Given the description of an element on the screen output the (x, y) to click on. 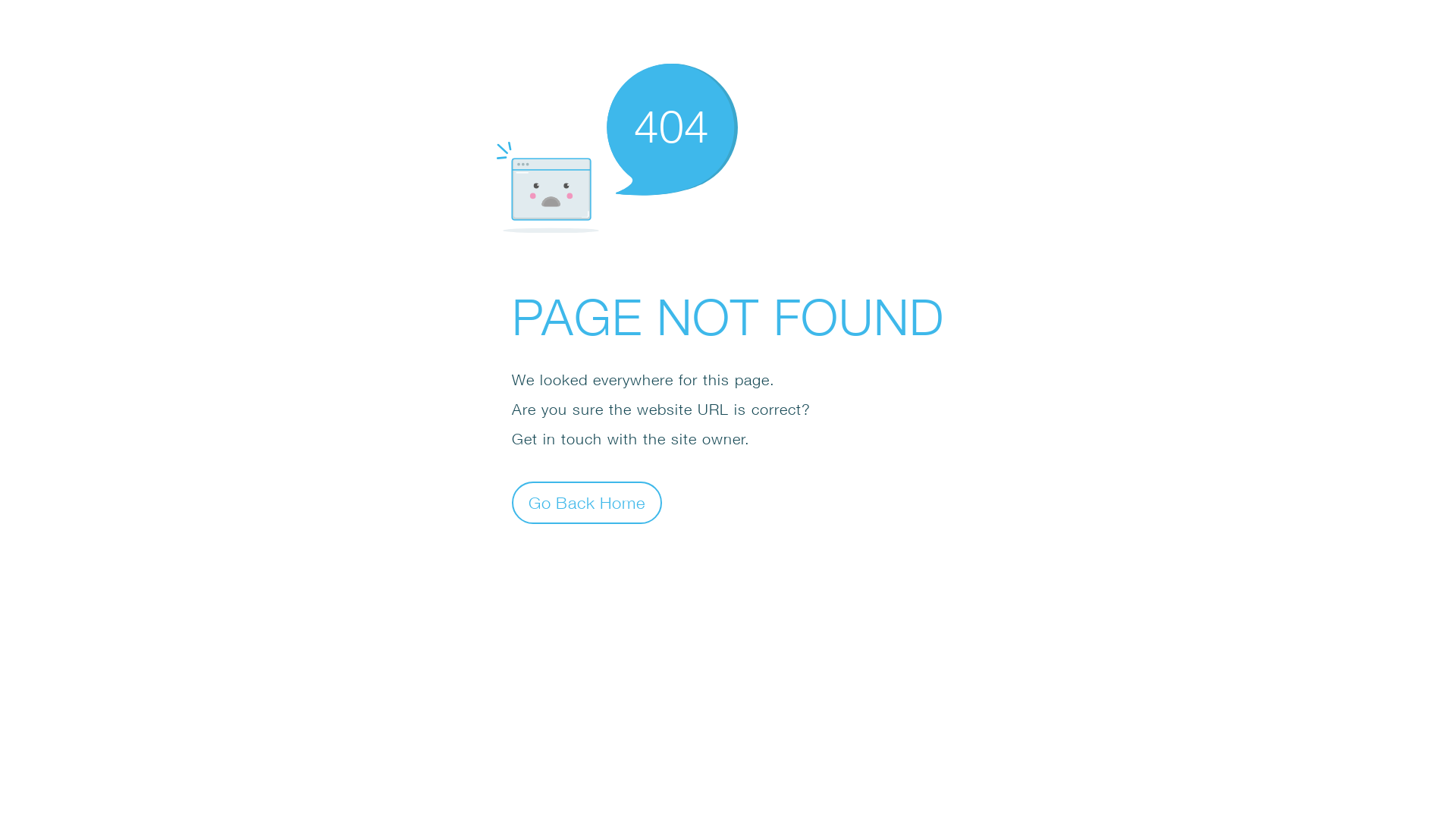
Go Back Home Element type: text (586, 502)
